Given the description of an element on the screen output the (x, y) to click on. 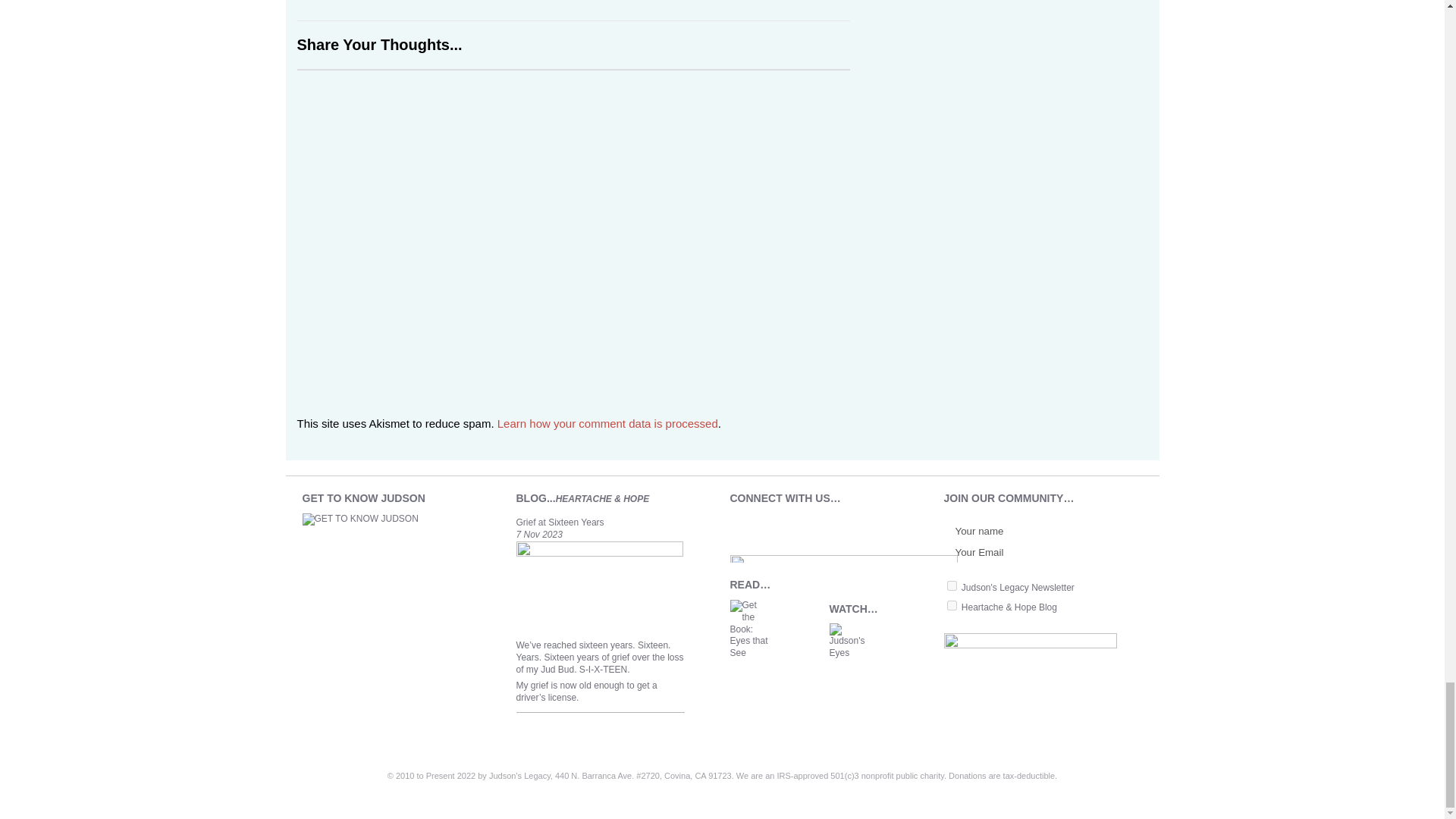
Your Email (1024, 552)
Permanent link to Grief at Sixteen Years (559, 521)
Grief at Sixteen Years (598, 552)
Your name (1024, 531)
on (951, 585)
on (951, 605)
Ok (1115, 542)
